Given the description of an element on the screen output the (x, y) to click on. 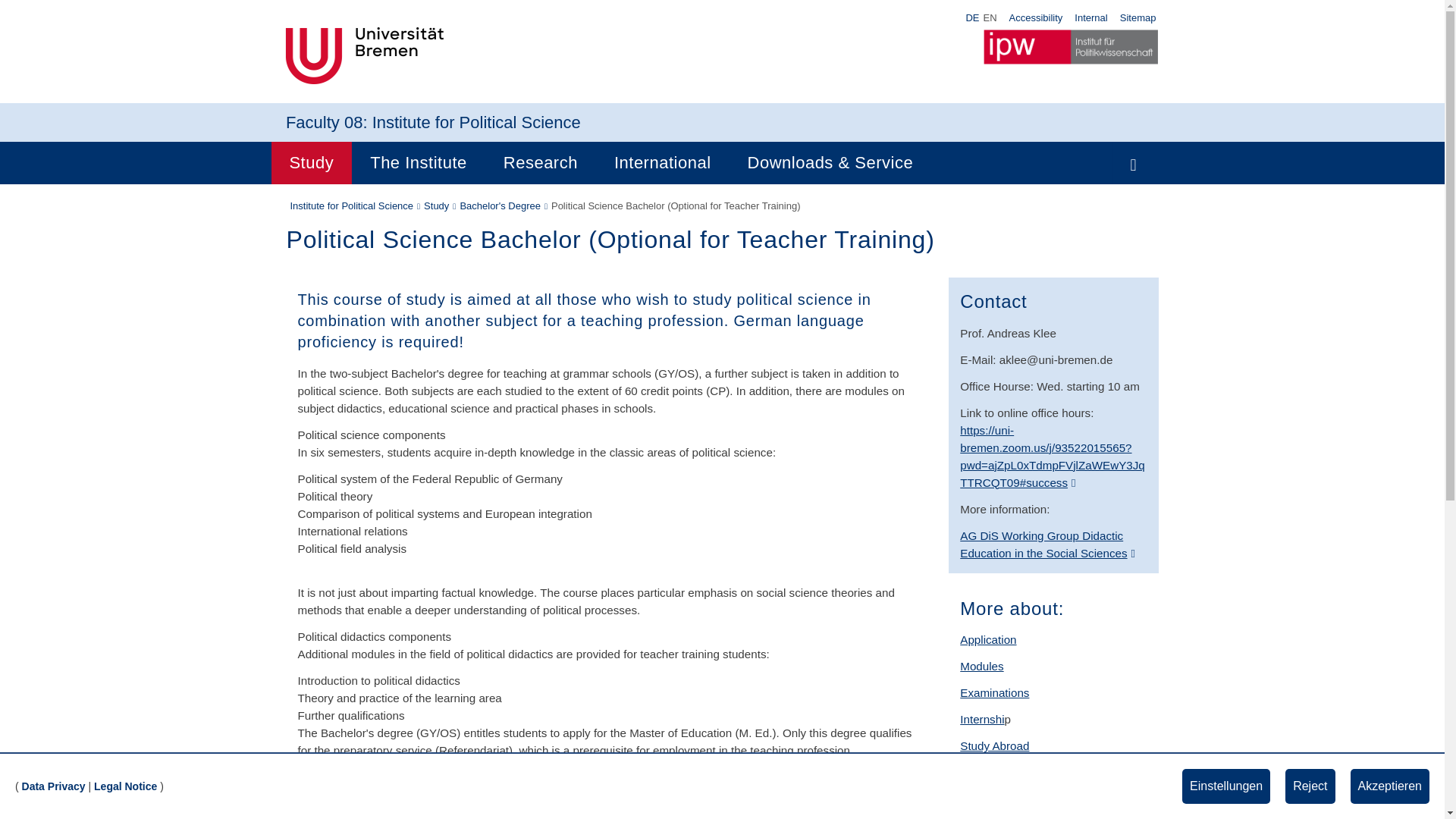
The Institute (418, 162)
Scroll to the bottom of the page (1411, 785)
Institute for Political Science (476, 122)
Study (311, 162)
Sitemap (1137, 16)
Faculty 08 (323, 122)
Accessibility (1035, 16)
Opens external link in new window (1047, 544)
International (662, 162)
DE (971, 17)
Internal (1090, 16)
Research (539, 162)
